Given the description of an element on the screen output the (x, y) to click on. 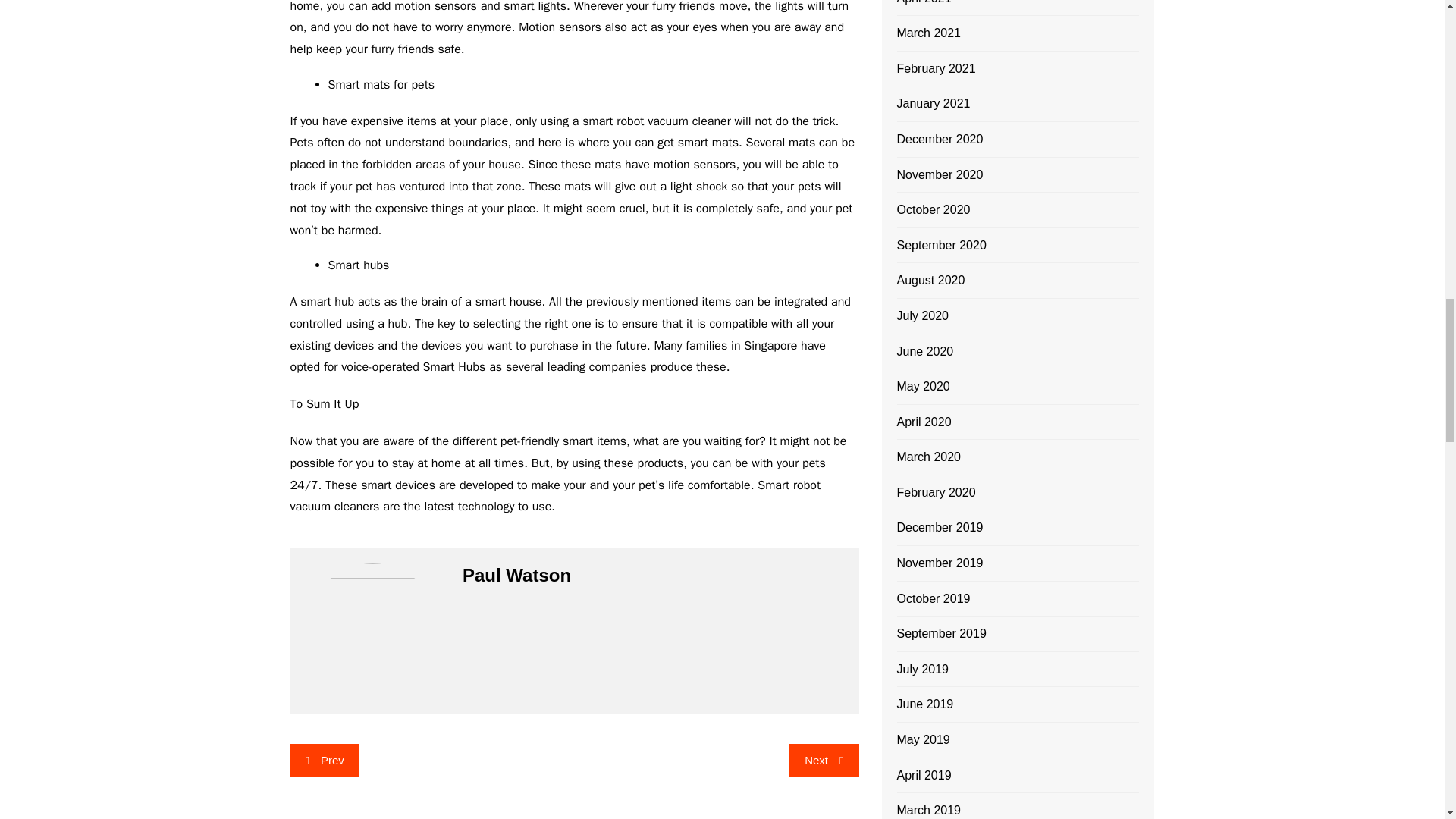
Next (824, 760)
Prev (323, 760)
